Given the description of an element on the screen output the (x, y) to click on. 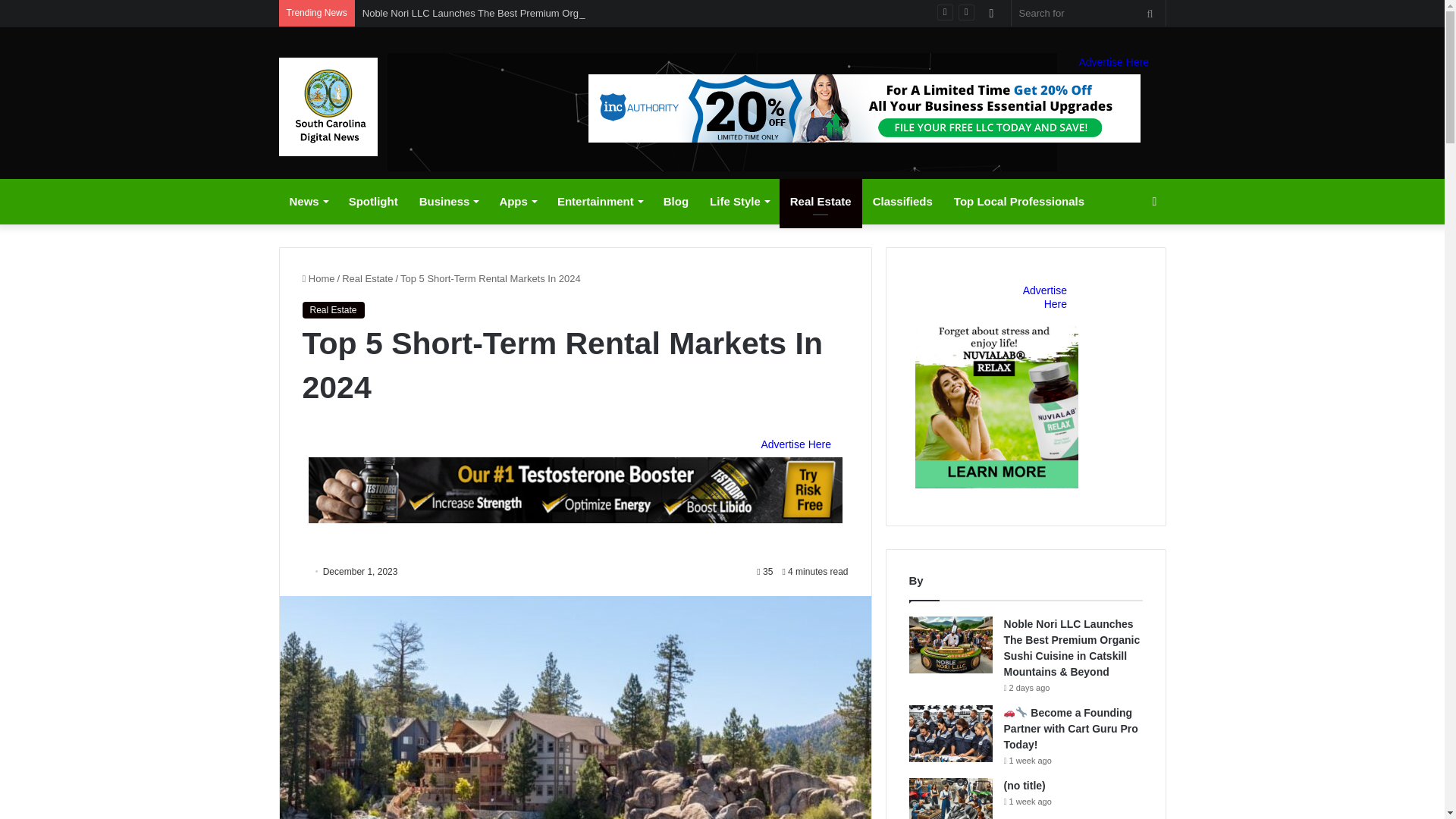
Real Estate (819, 201)
Search for (1149, 13)
News (308, 201)
Spotlight (373, 201)
Apps (517, 201)
Search for (1088, 13)
Blog (675, 201)
South Carolina Digital News (328, 106)
Business (449, 201)
Life Style (738, 201)
Entertainment (599, 201)
